Given the description of an element on the screen output the (x, y) to click on. 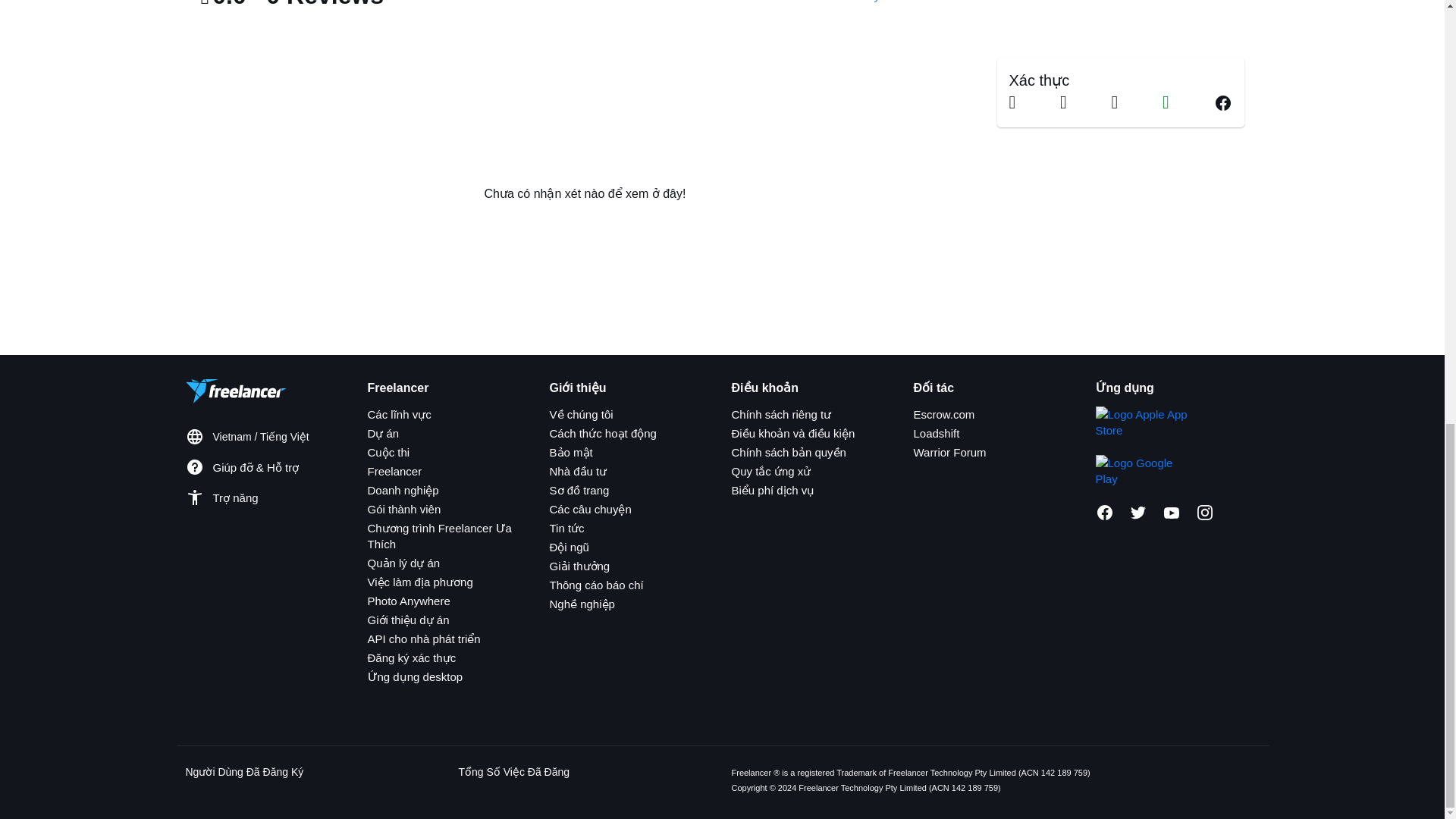
Freelancer (394, 471)
Facebook (1103, 512)
Photo Anywhere (407, 600)
Instagram (1203, 512)
YouTube (1170, 512)
Twitter (1137, 512)
